Given the description of an element on the screen output the (x, y) to click on. 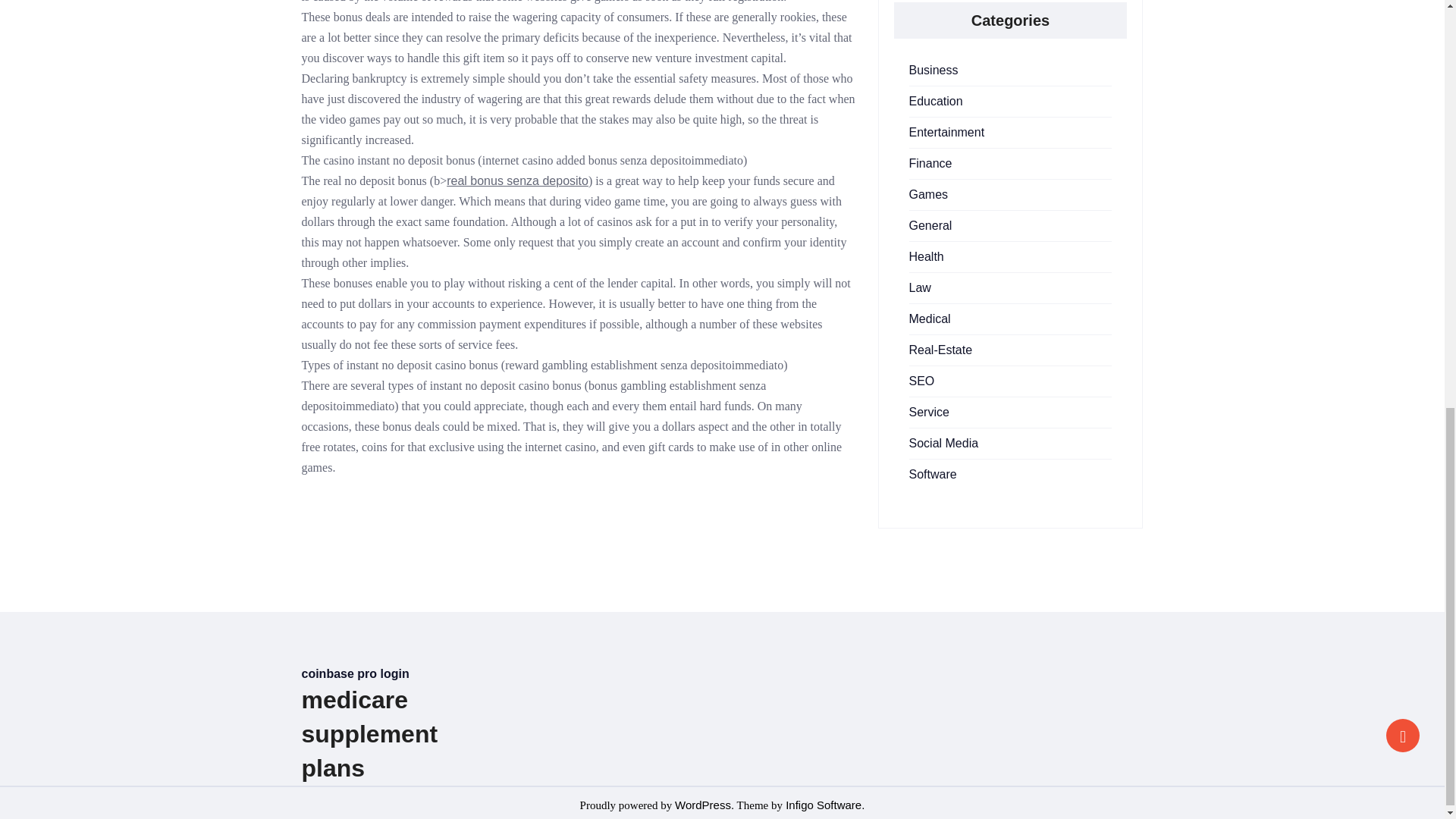
Health (925, 256)
Education (935, 101)
Finance (930, 163)
General (930, 225)
Software (932, 473)
SEO (921, 380)
medicare supplement plans (369, 734)
Medical (929, 318)
Business (933, 69)
coinbase pro login (355, 673)
Law (919, 287)
WordPress. (704, 804)
Service (928, 411)
Real-Estate (940, 349)
real bonus senza deposito (517, 180)
